Given the description of an element on the screen output the (x, y) to click on. 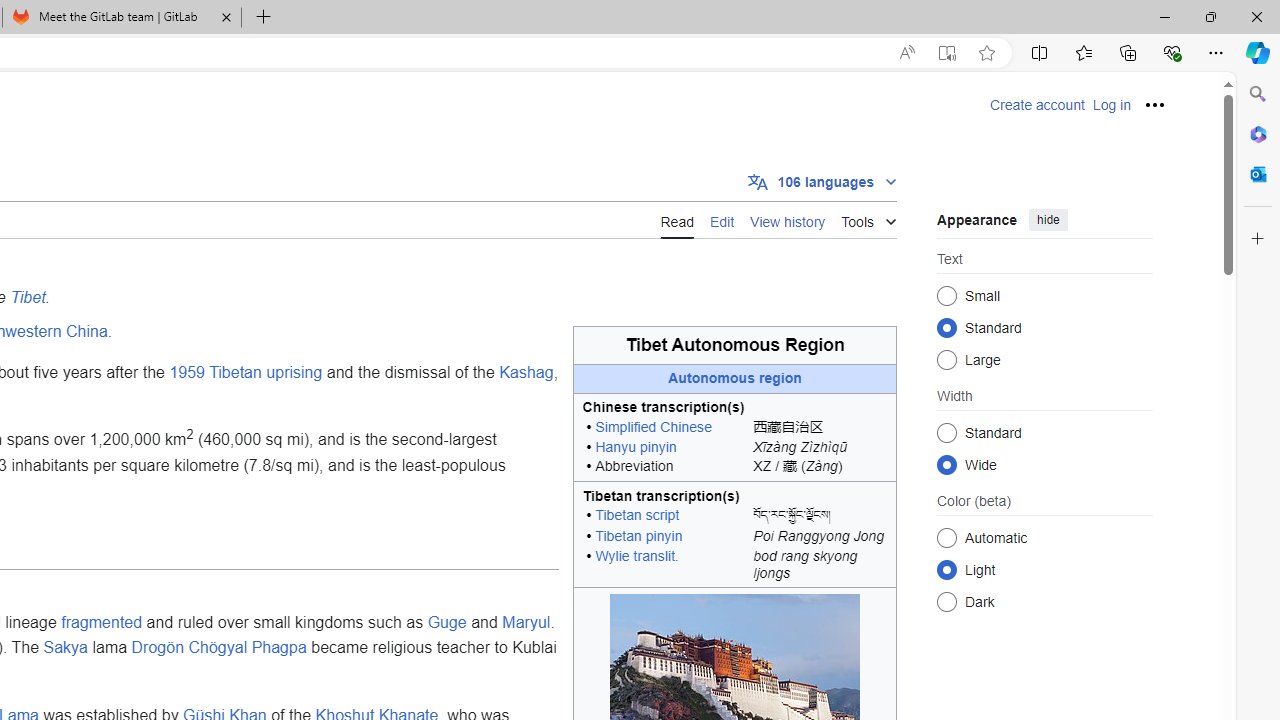
Edit (721, 219)
Read (676, 219)
Tools (868, 218)
Class: mergedtoprow (735, 494)
Wylie translit. (636, 555)
Personal tools (1155, 104)
Log in (1111, 105)
Autonomous region (735, 378)
